Given the description of an element on the screen output the (x, y) to click on. 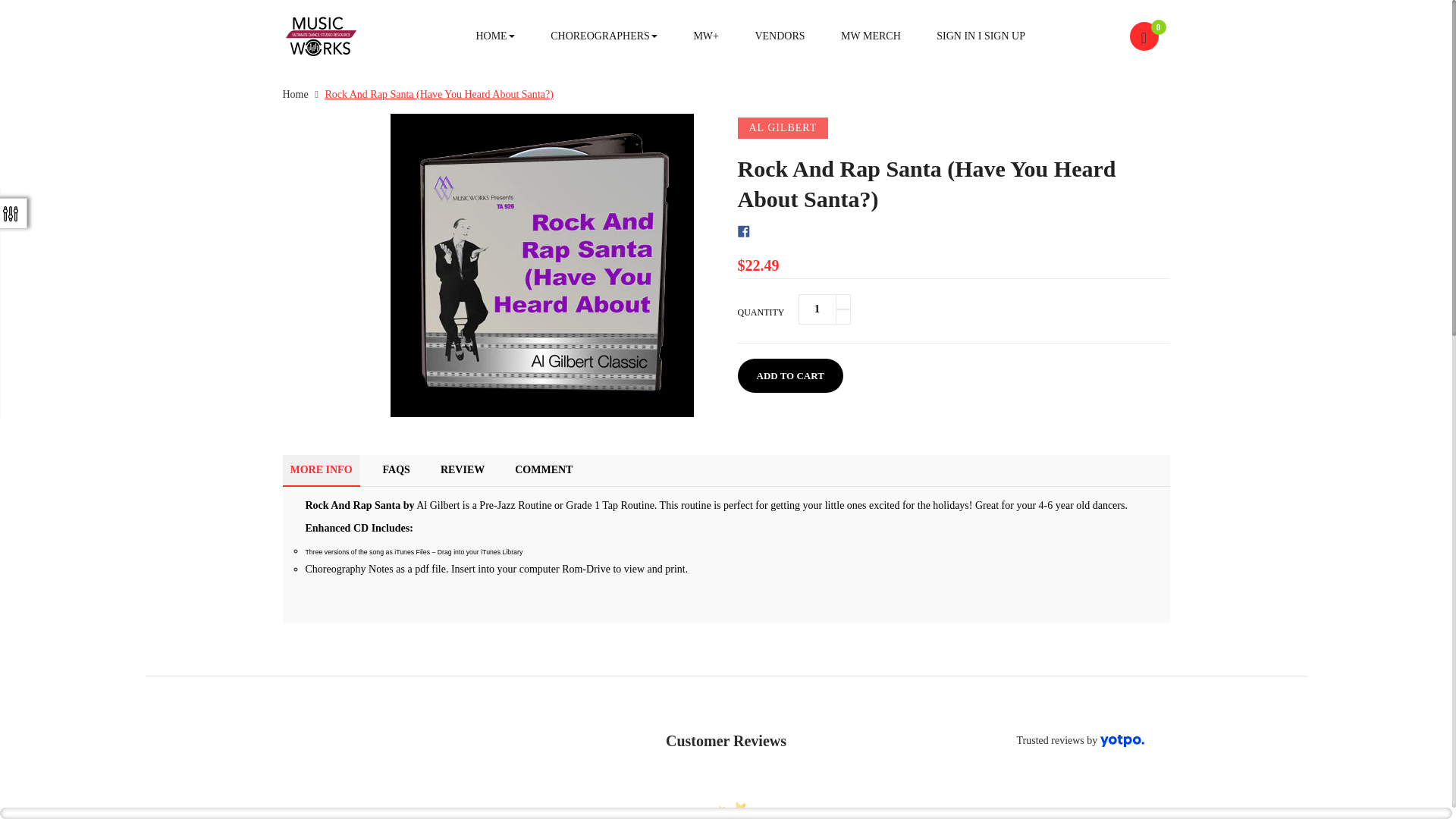
1 (816, 309)
